Given the description of an element on the screen output the (x, y) to click on. 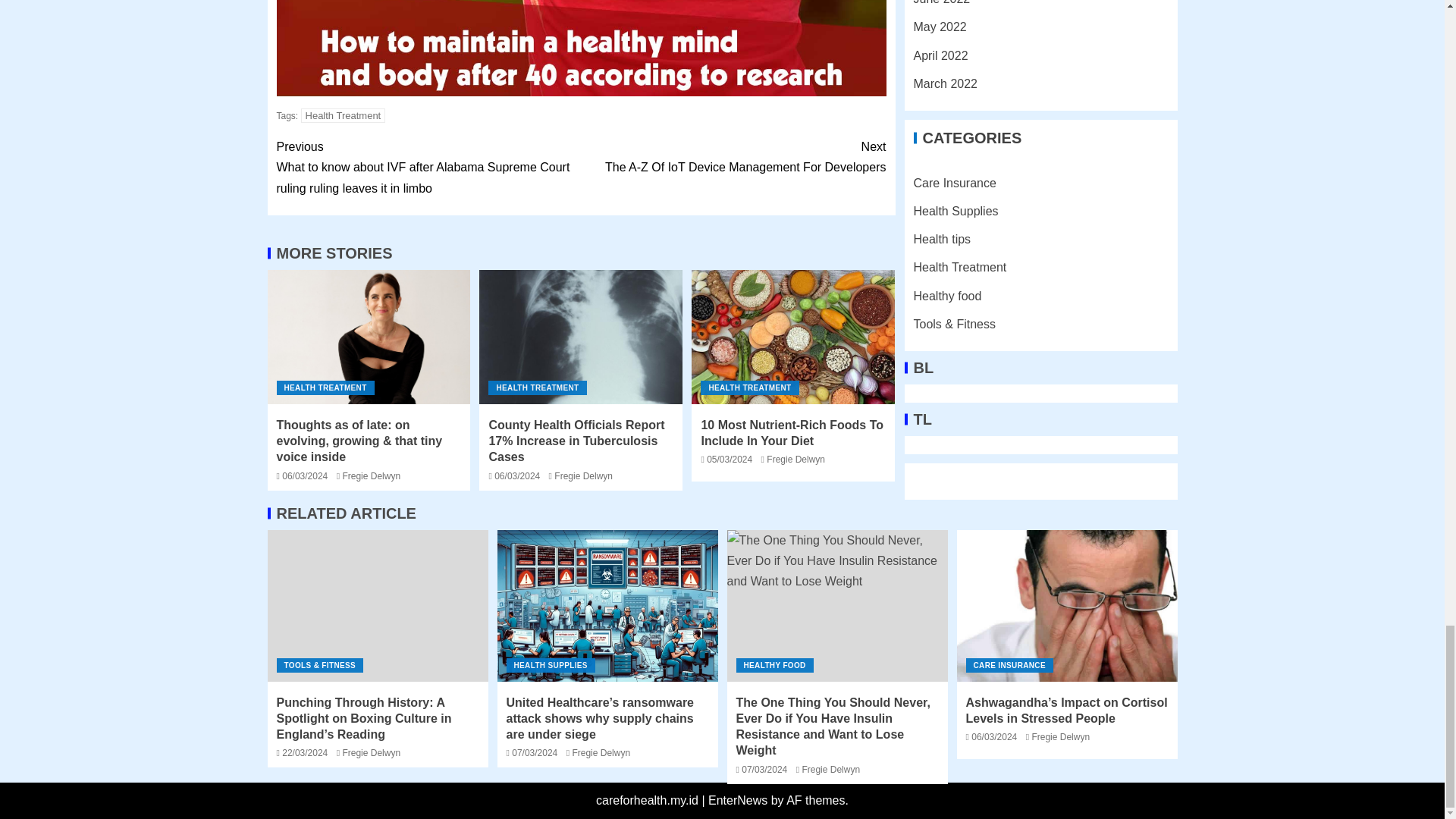
Fregie Delwyn (371, 475)
HEALTH TREATMENT (732, 156)
Health Treatment (536, 387)
10 Most Nutrient-Rich Foods To Include In Your Diet (343, 115)
HEALTH TREATMENT (793, 337)
